Given the description of an element on the screen output the (x, y) to click on. 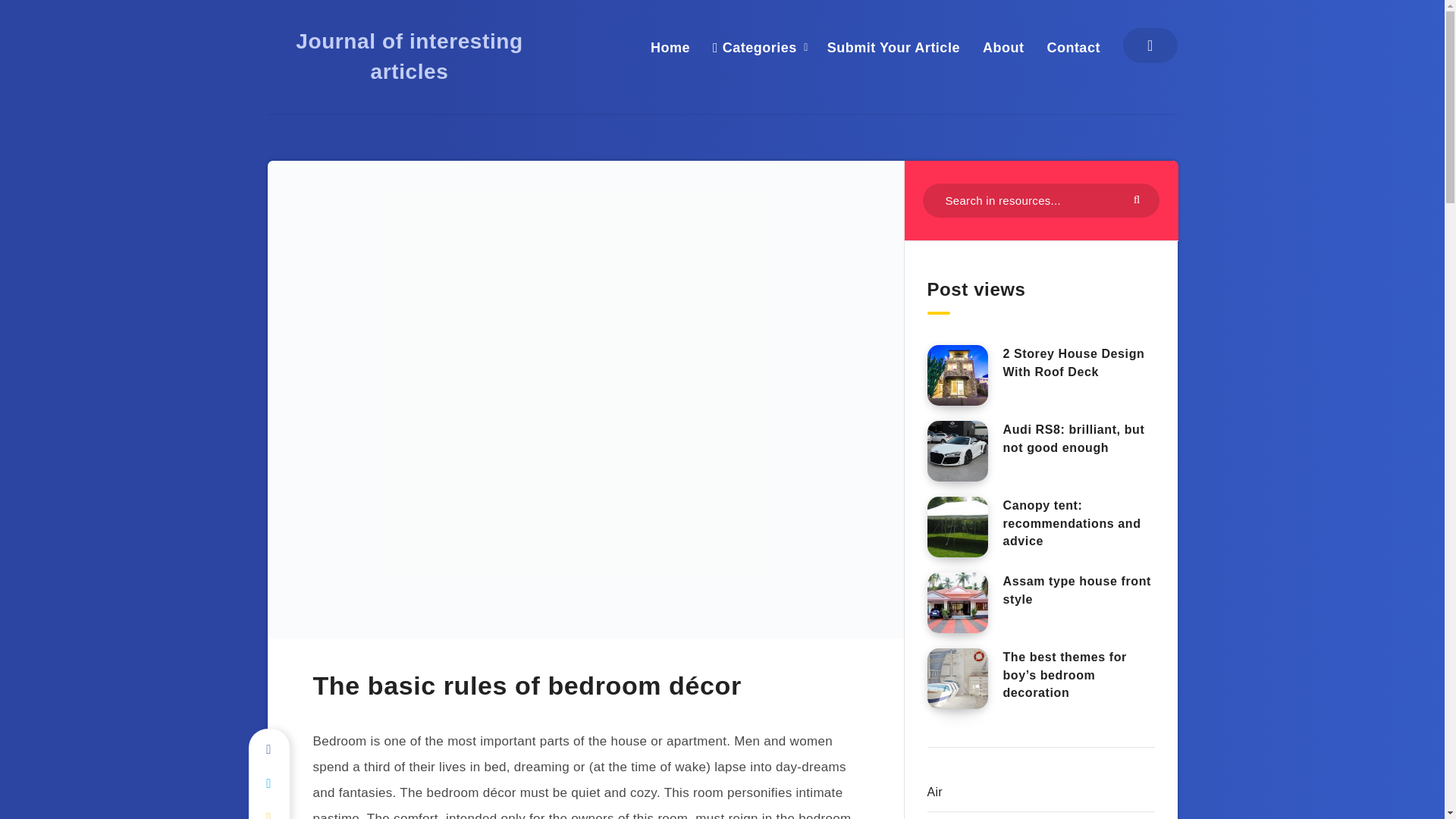
Home (670, 47)
Contact (1073, 47)
Submit Your Article (893, 47)
Categories (754, 47)
Journal of interesting articles (408, 56)
About (1002, 47)
